Given the description of an element on the screen output the (x, y) to click on. 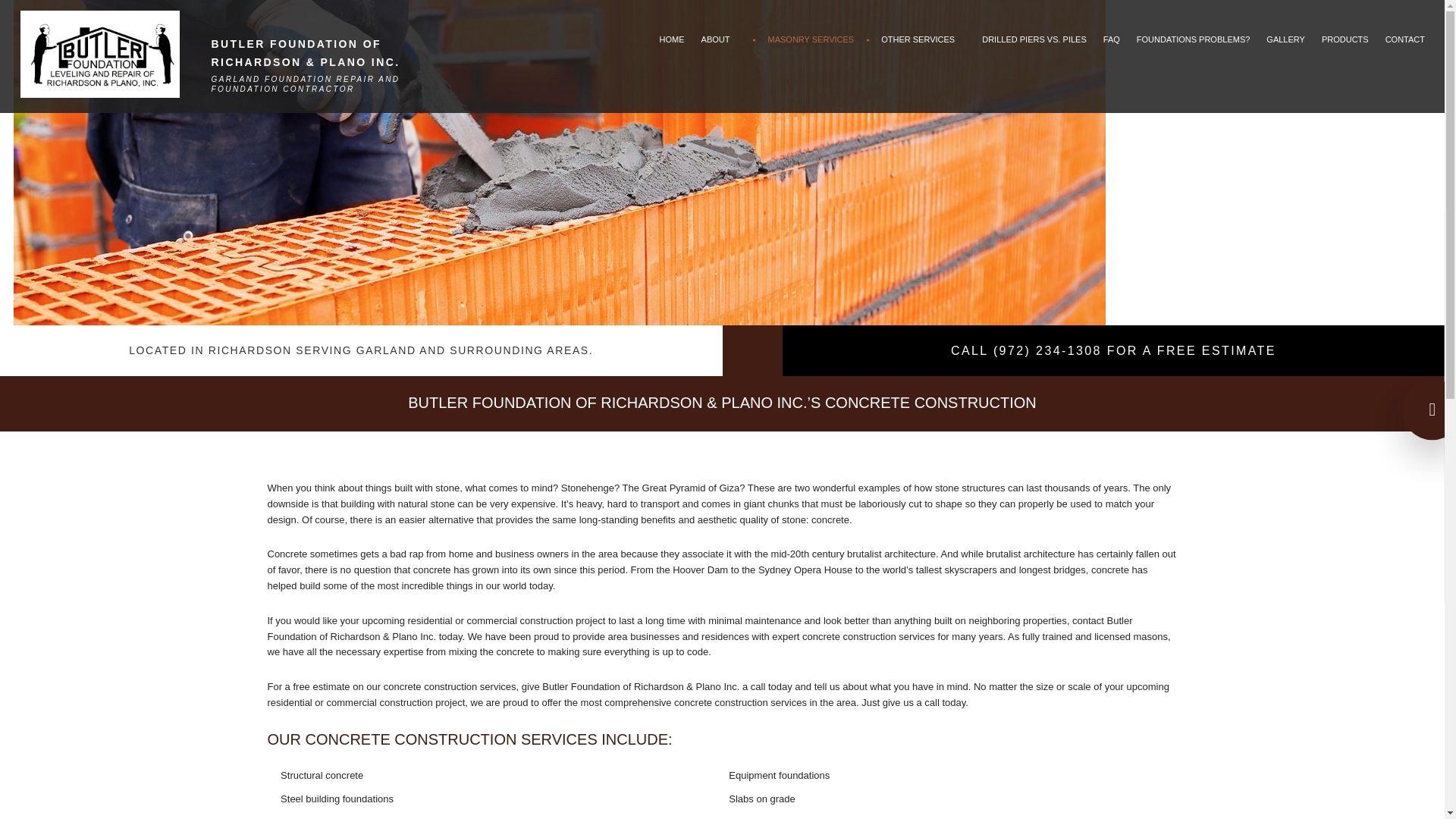
MASONRY CONSTRUCTION (810, 181)
FOUNDATION CONTRACTOR (922, 113)
RETAINING WALLS (810, 227)
MASONRY SERVICES (811, 39)
CONCRETE COUNTERTOPS (810, 136)
SERVICE AREAS (810, 341)
BLOG (730, 113)
OTHER SERVICES (923, 39)
TESTIMONIALS (730, 136)
STAINED CONCRETE (810, 272)
FOUNDATION REPAIR (922, 159)
MASONRY SERVICES (810, 318)
DRILLED PIERS VS. PILES (1034, 39)
CONCRETE FOUNDATIONS (922, 136)
STAMPED CONCRETE (810, 250)
